Given the description of an element on the screen output the (x, y) to click on. 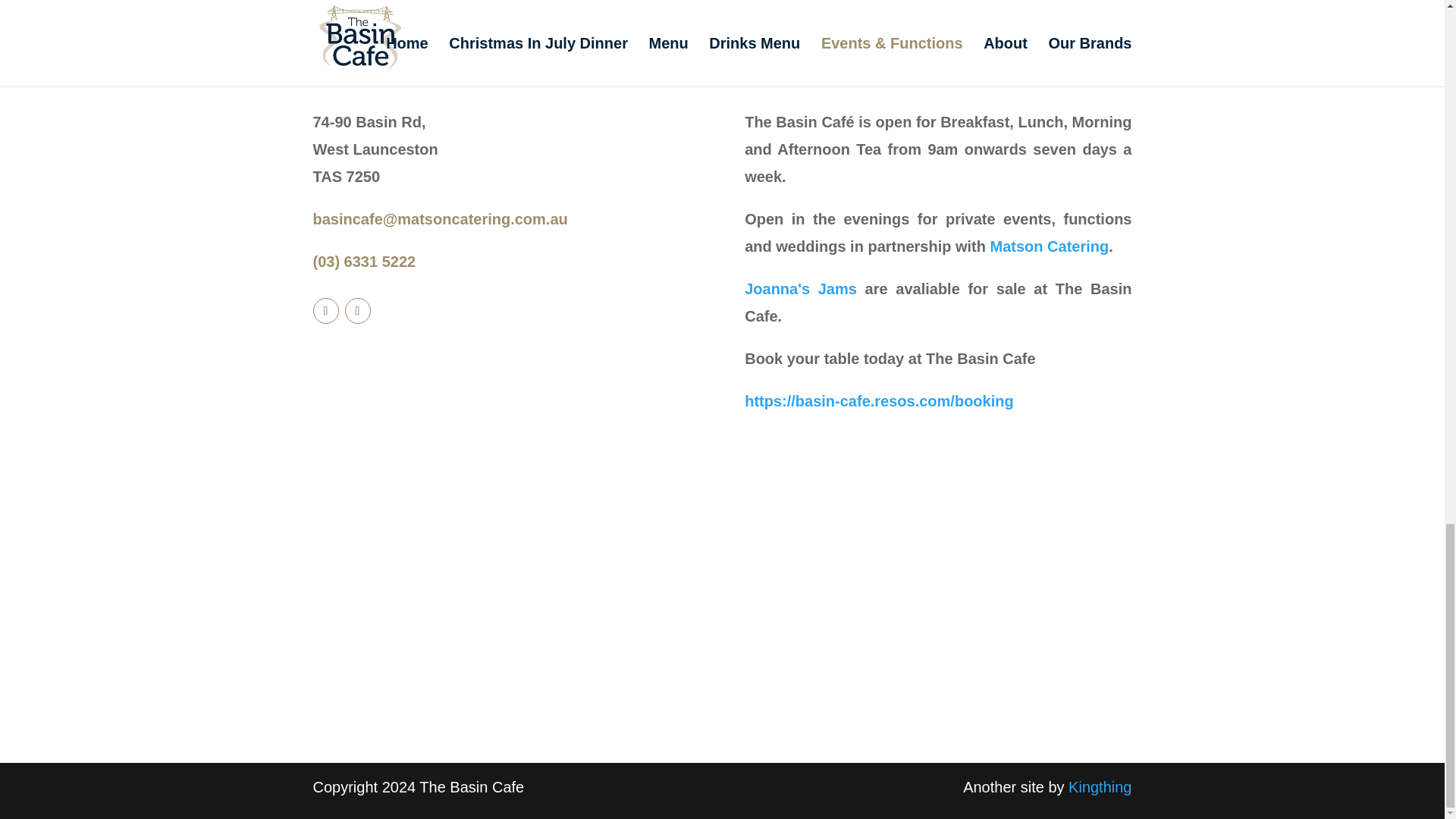
Kingthing (1099, 786)
Follow on Instagram (356, 310)
Matson Catering  (1049, 246)
Joanna's Jams  (804, 288)
Follow on Facebook (325, 310)
Joanna's Jams (804, 288)
Matson Catering (1049, 246)
